Given the description of an element on the screen output the (x, y) to click on. 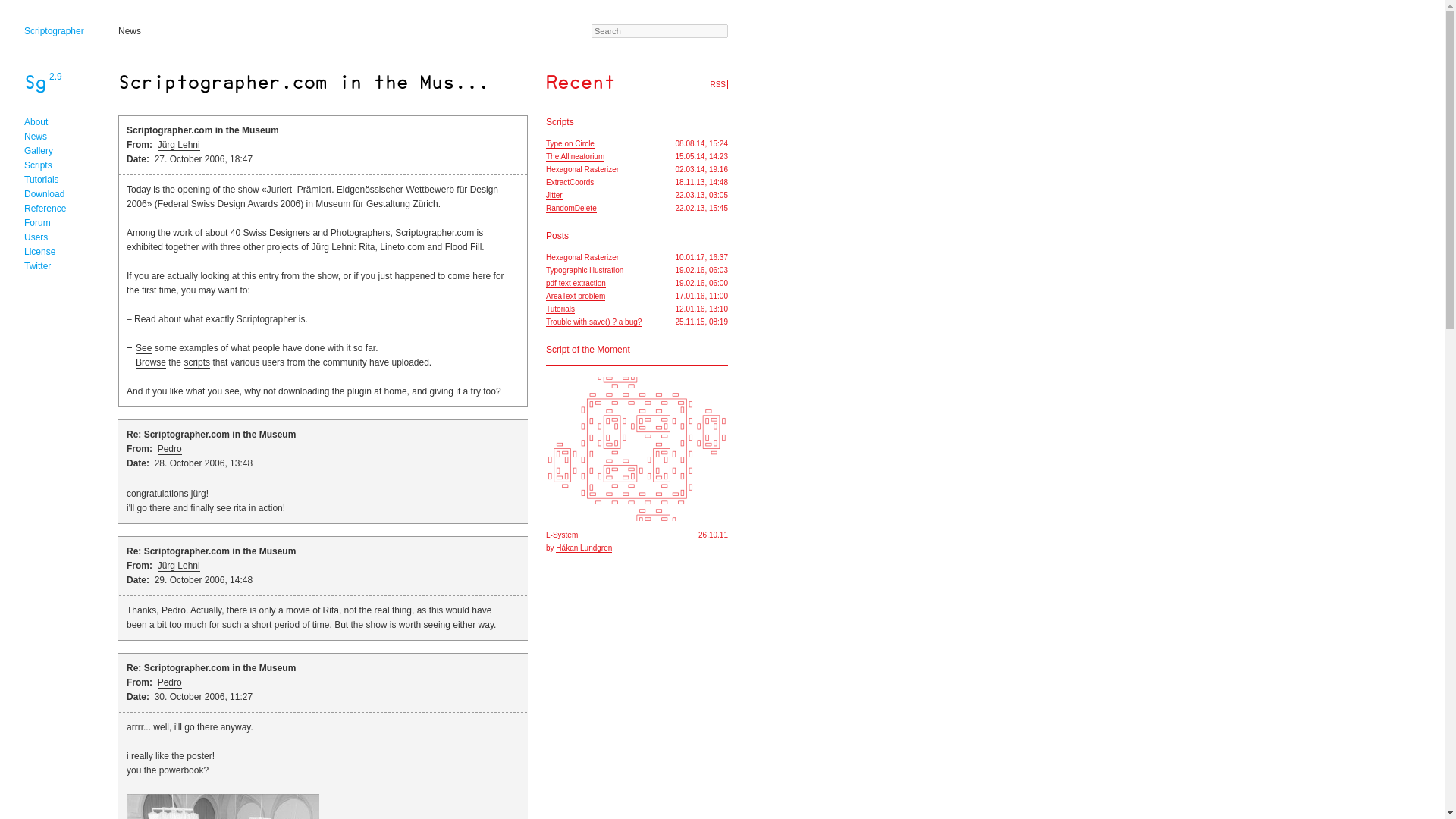
The Allineatorium (575, 156)
Rita (366, 247)
See (143, 348)
downloading (303, 391)
Flood Fill (463, 247)
About (36, 122)
Users (36, 236)
Reference (44, 208)
Tutorials (41, 179)
scripts (196, 362)
